Given the description of an element on the screen output the (x, y) to click on. 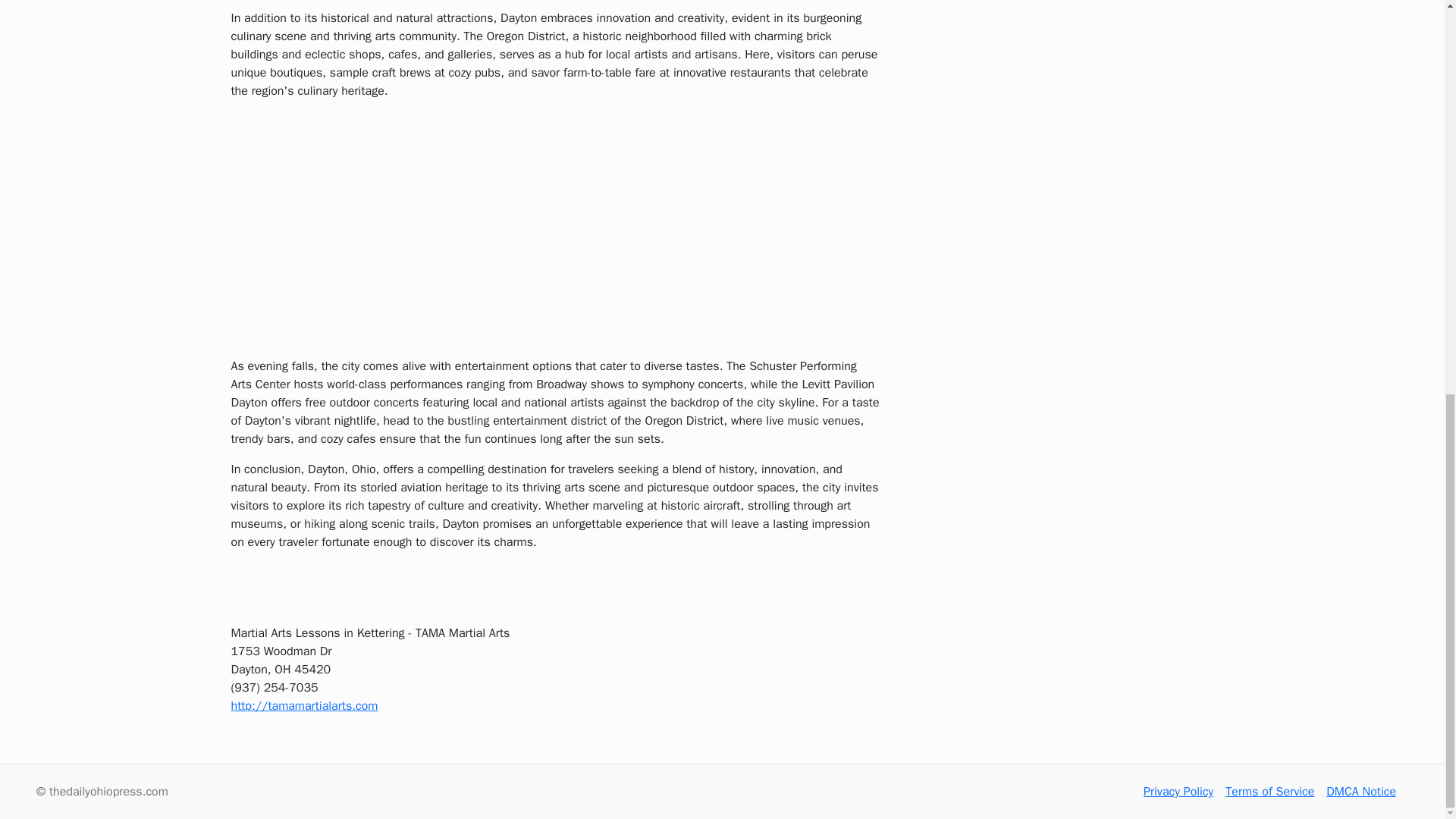
DMCA Notice (1361, 791)
Privacy Policy (1177, 791)
Terms of Service (1269, 791)
